Given the description of an element on the screen output the (x, y) to click on. 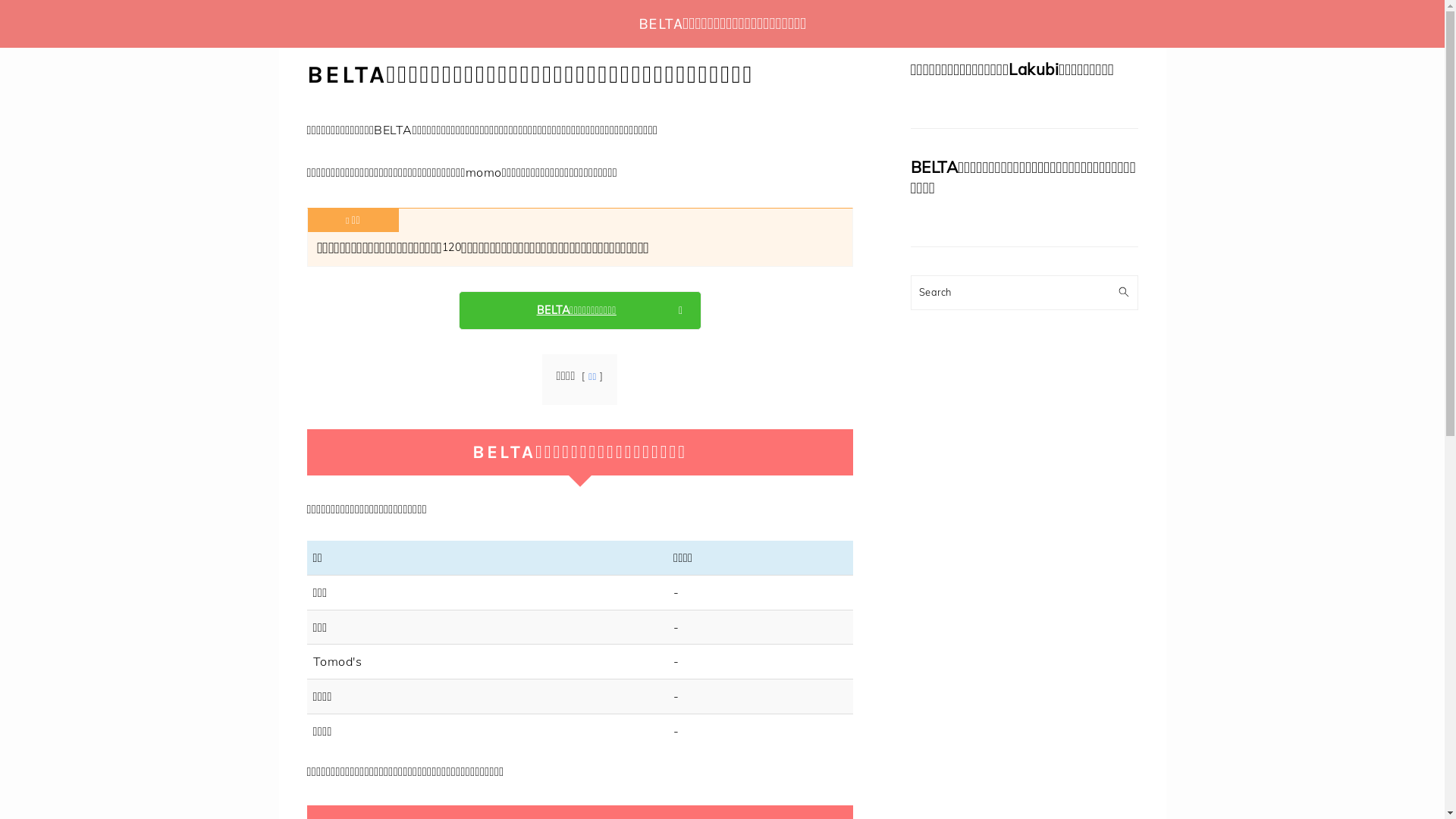
Skip to main content Element type: text (0, 0)
Search Element type: text (1128, 282)
